Given the description of an element on the screen output the (x, y) to click on. 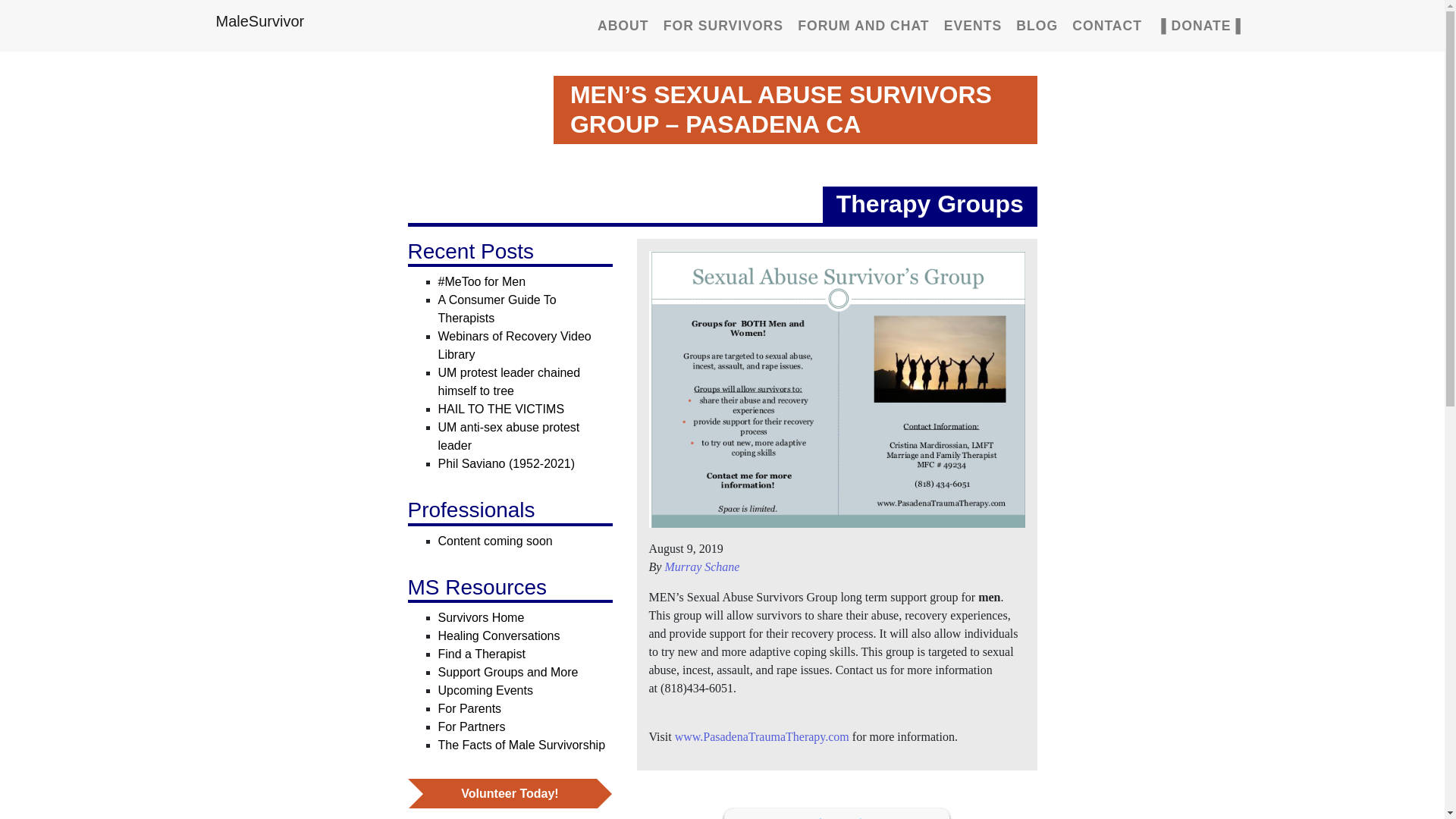
www.PasadenaTraumaTherapy.com (761, 736)
Murray Schane (701, 566)
A Consumer Guide To Therapists (497, 308)
For Partners (471, 726)
For Parents (470, 707)
EVENTS (972, 25)
Support Groups and More (508, 671)
Forum and Chat (863, 25)
Volunteer Today! (509, 792)
For Survivors (723, 25)
MaleSurvivor (259, 20)
Find a Therapist (481, 653)
Therapy Groups (929, 203)
Events (972, 25)
CONTACT (1107, 25)
